Given the description of an element on the screen output the (x, y) to click on. 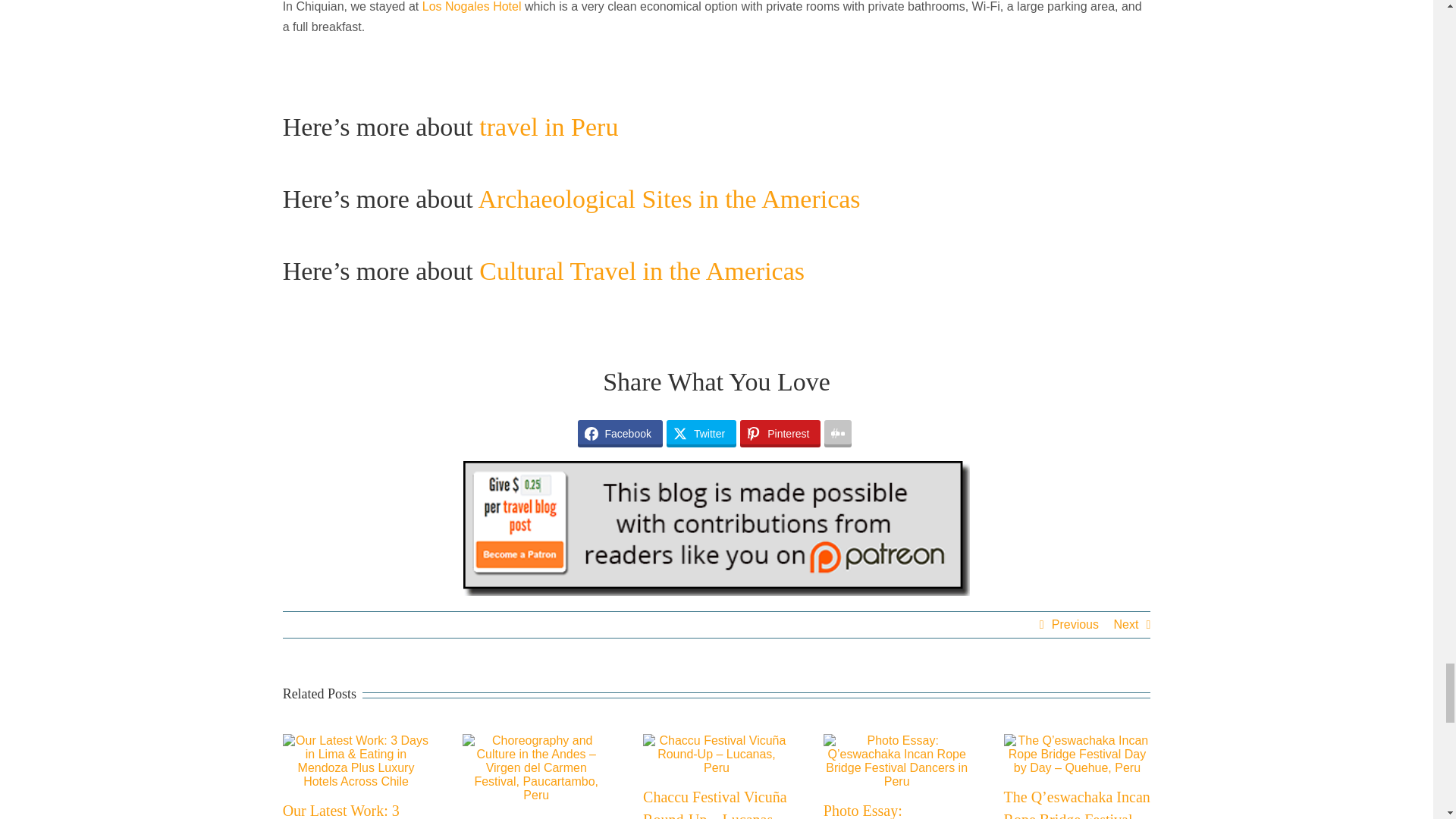
Share on Twitter (701, 433)
Share on Pinterest (780, 433)
Share on Facebook (620, 433)
